Given the description of an element on the screen output the (x, y) to click on. 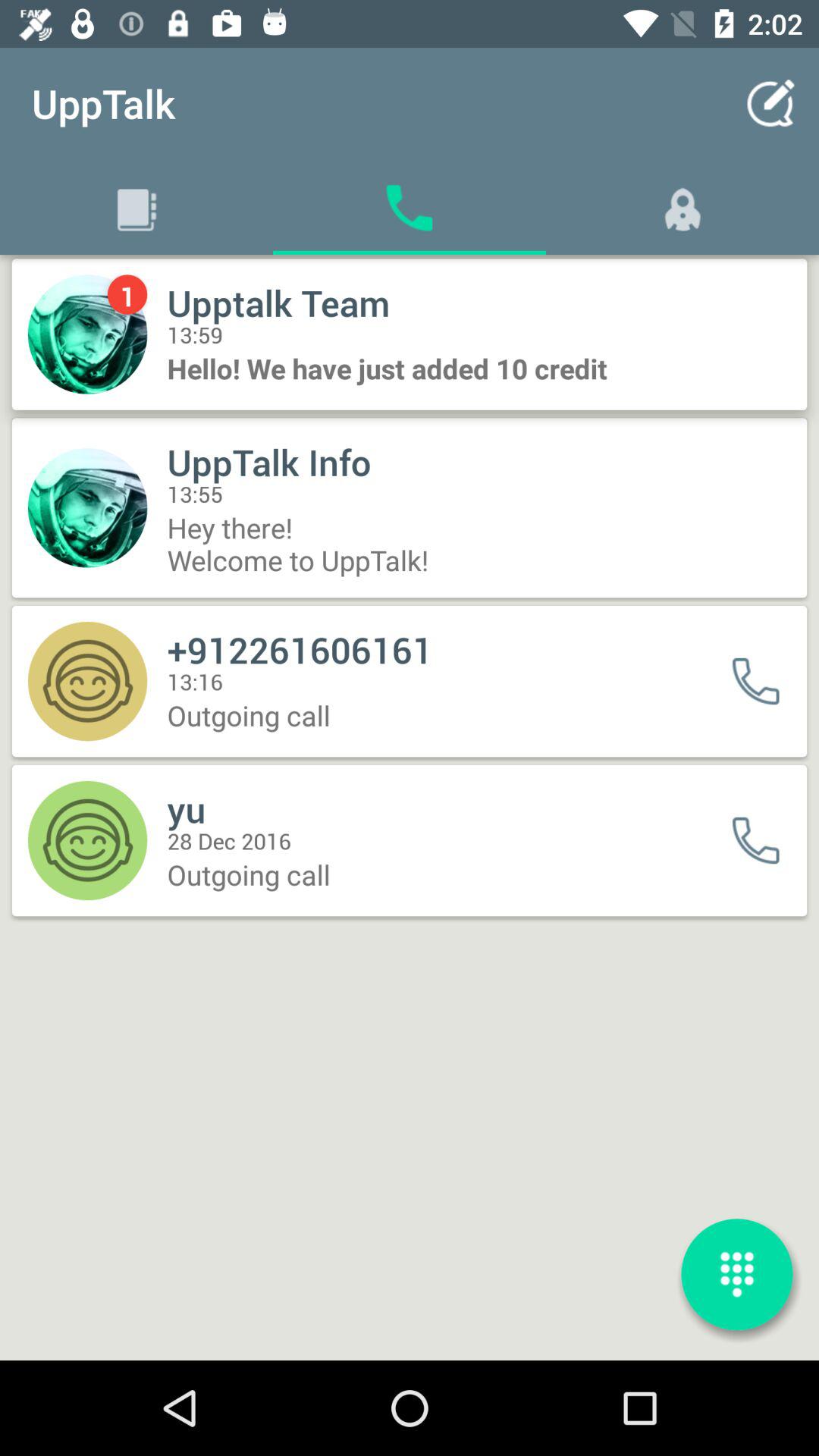
dial user (765, 840)
